Given the description of an element on the screen output the (x, y) to click on. 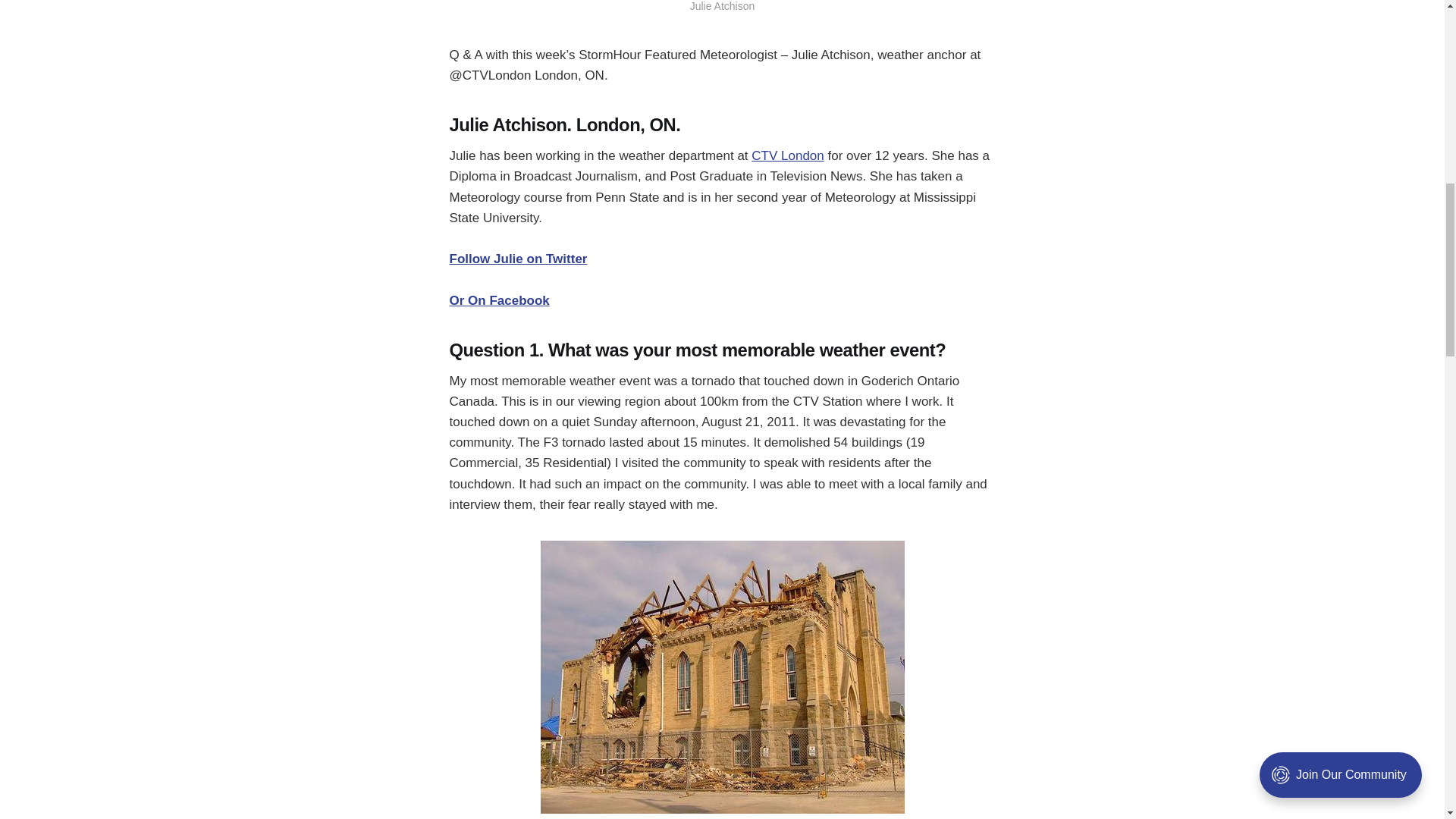
CTV London (787, 155)
Or On Facebook (498, 299)
Follow Julie on Twitter (517, 258)
